Given the description of an element on the screen output the (x, y) to click on. 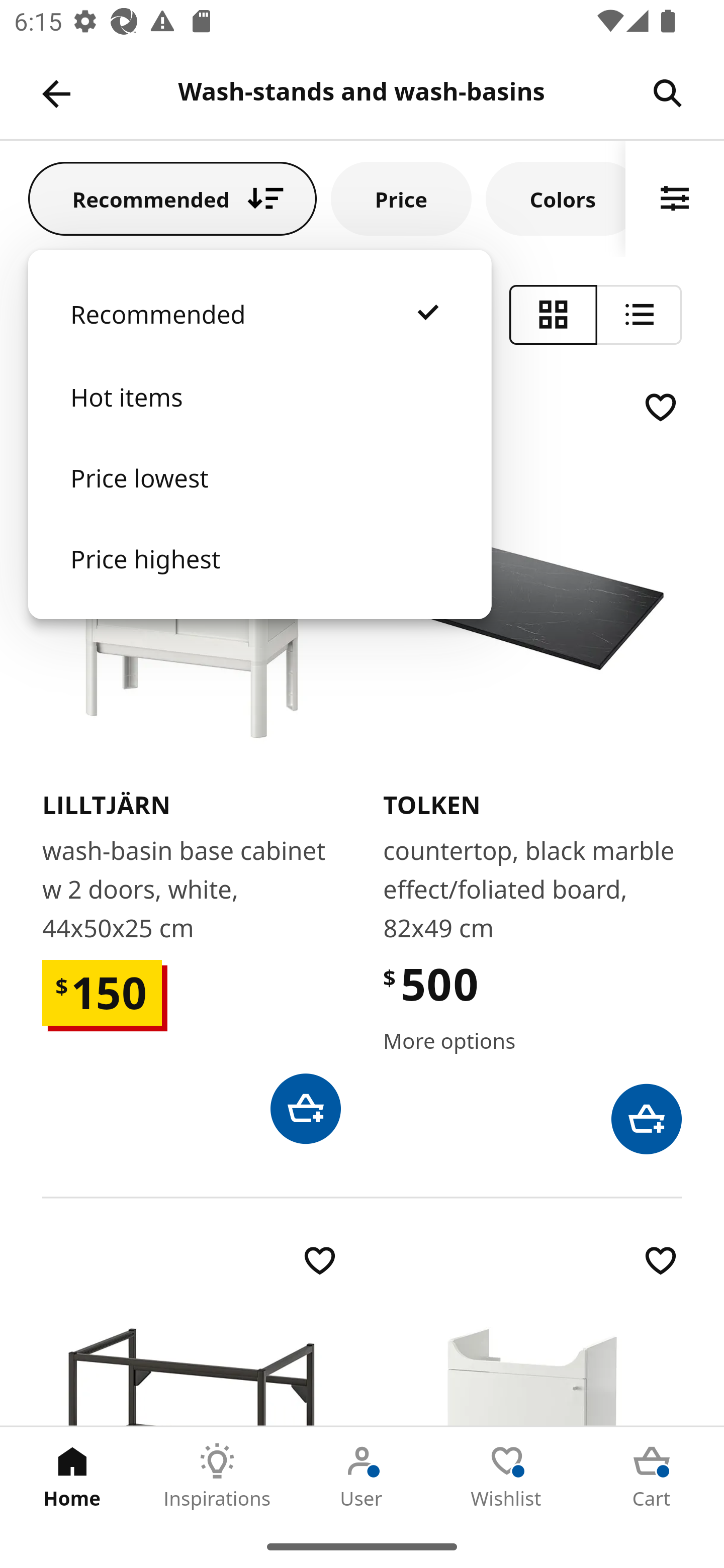
Recommended (172, 198)
Price (400, 198)
Colors (555, 198)
Recommended (259, 333)
Hot items (259, 416)
Price lowest (259, 497)
Price highest (259, 578)
Home
Tab 1 of 5 (72, 1476)
Inspirations
Tab 2 of 5 (216, 1476)
User
Tab 3 of 5 (361, 1476)
Wishlist
Tab 4 of 5 (506, 1476)
Cart
Tab 5 of 5 (651, 1476)
